Given the description of an element on the screen output the (x, y) to click on. 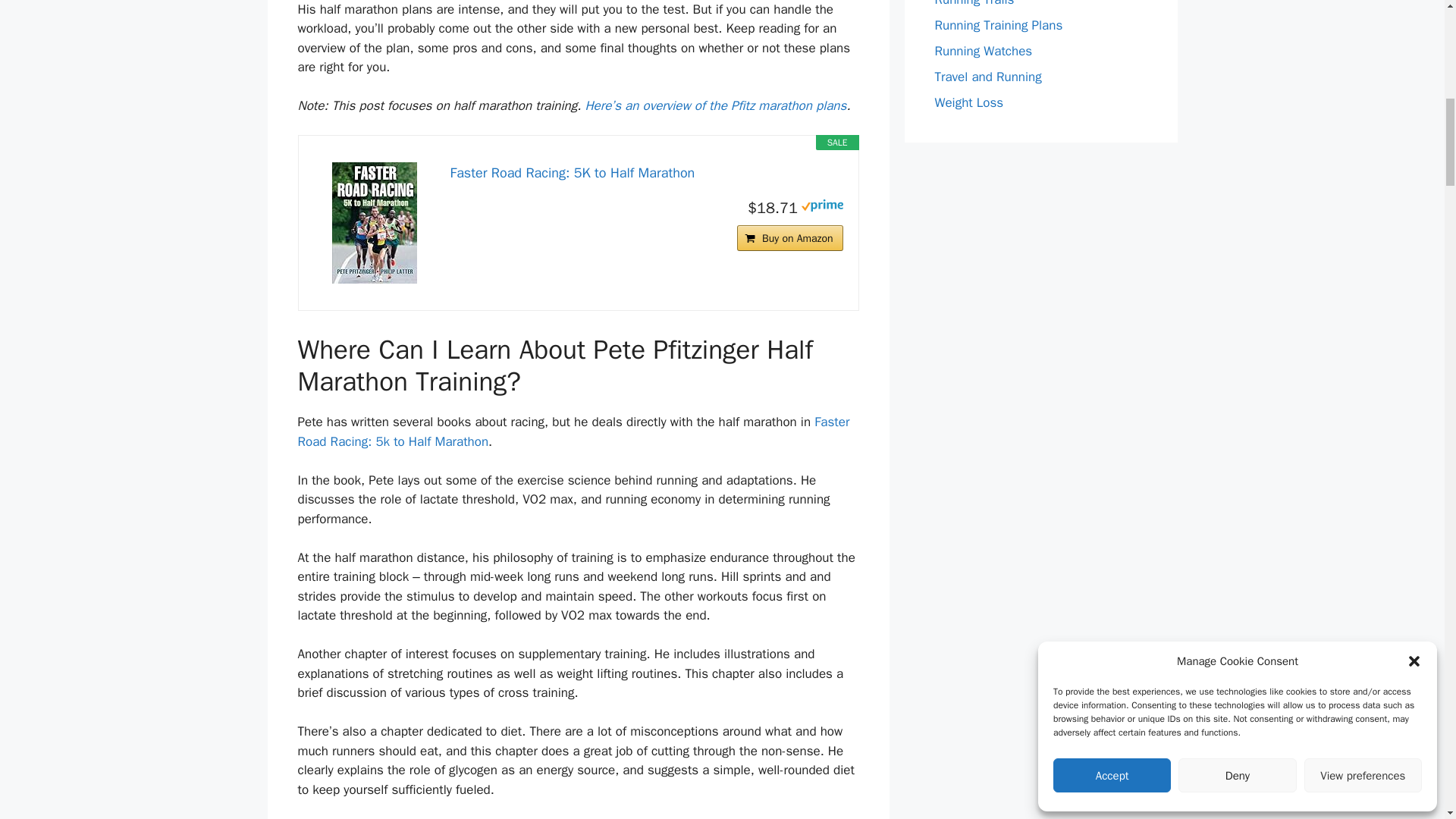
Faster Road Racing: 5K to Half Marathon (374, 222)
Buy on Amazon (789, 237)
Faster Road Racing: 5K to Half Marathon (646, 173)
Amazon Prime (821, 207)
Faster Road Racing: 5k to Half Marathon (572, 431)
Buy on Amazon (789, 237)
Faster Road Racing: 5k to Half Marathon (572, 431)
Faster Road Racing: 5K to Half Marathon (646, 173)
